Given the description of an element on the screen output the (x, y) to click on. 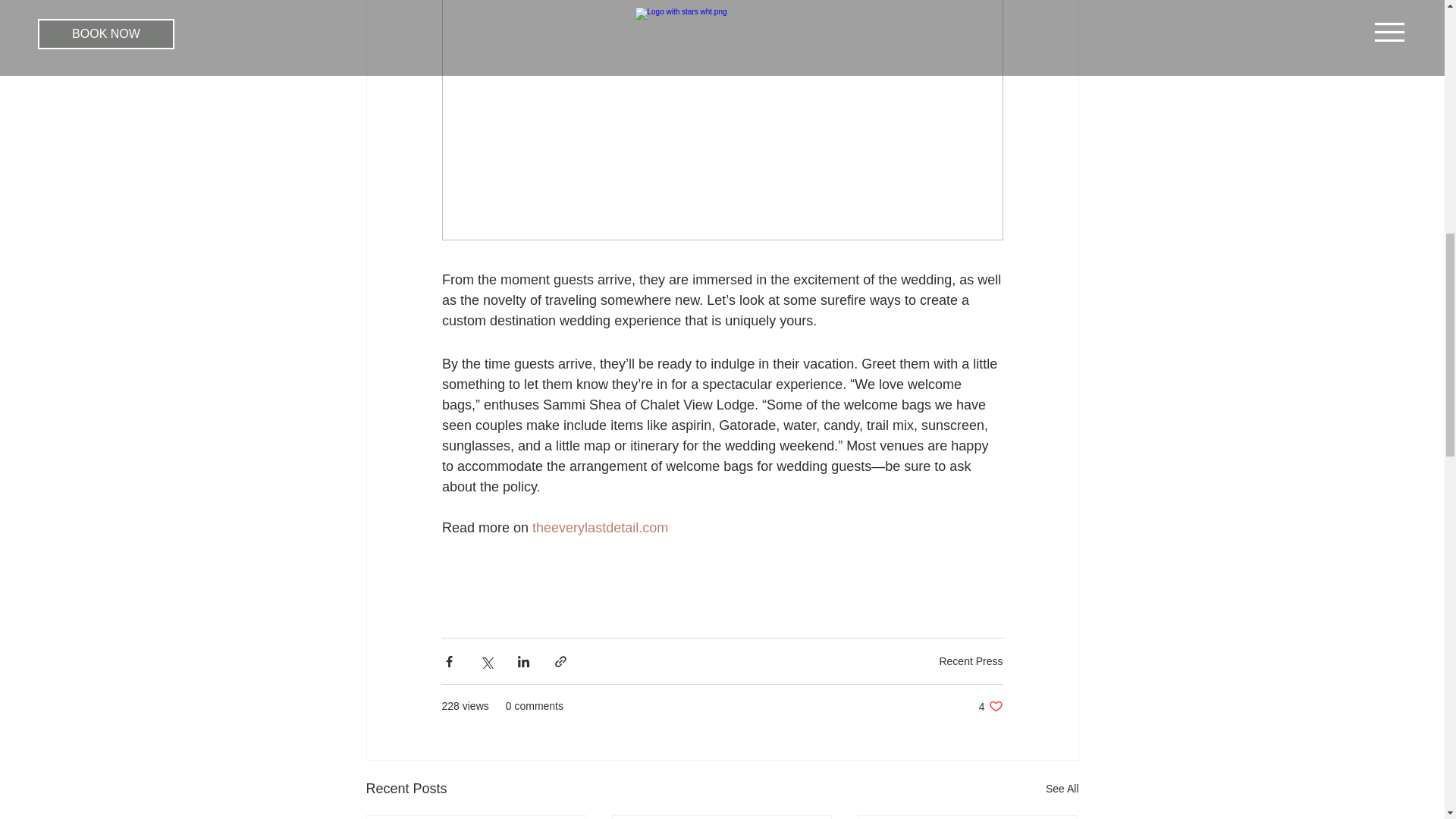
theeverylastdetail.com (600, 527)
See All (1061, 789)
Recent Press (990, 706)
